Given the description of an element on the screen output the (x, y) to click on. 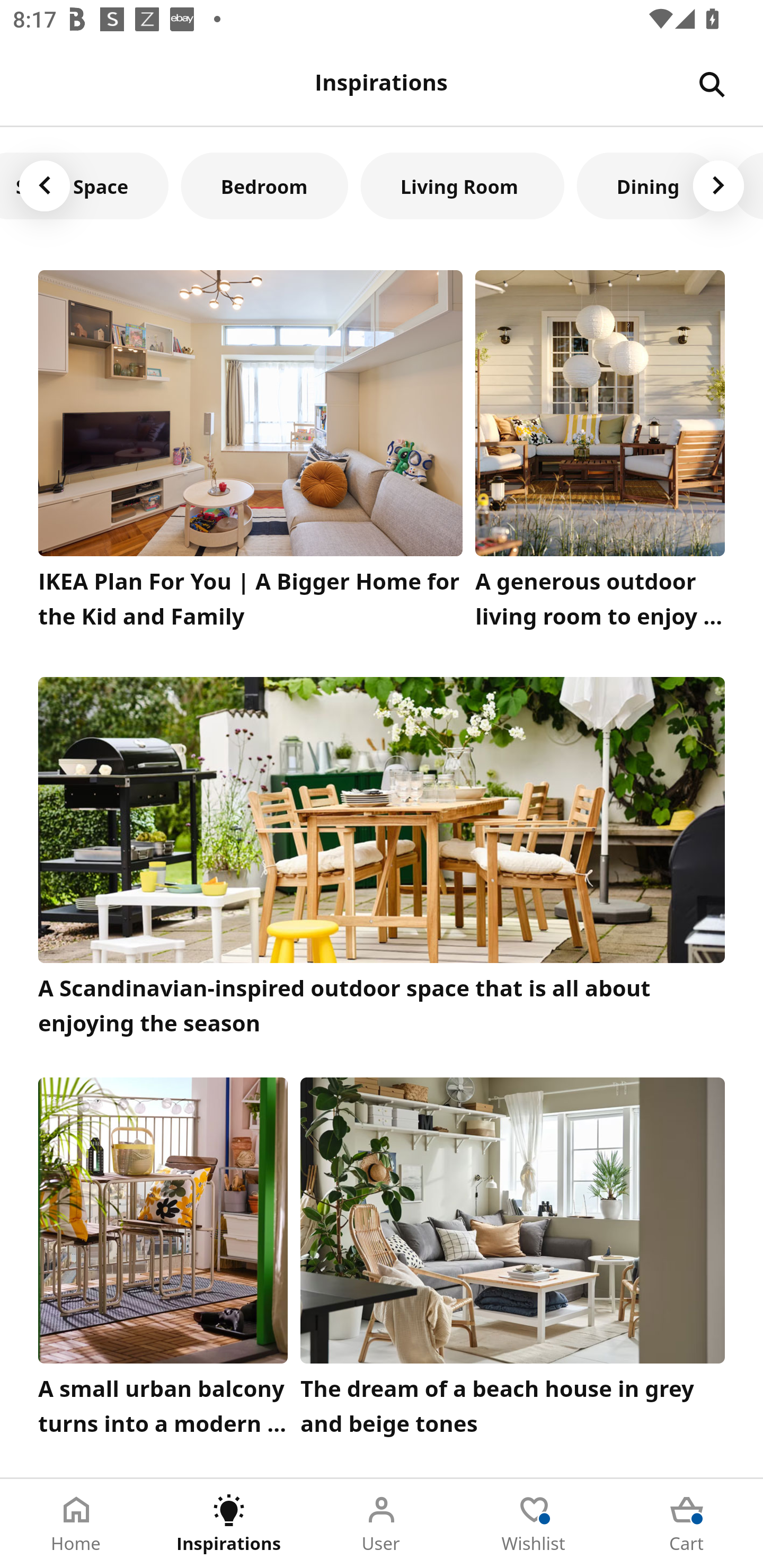
Bedroom (264, 185)
Living Room  (462, 185)
Dining (648, 185)
The dream of a beach house in grey and beige tones (512, 1261)
Home
Tab 1 of 5 (76, 1522)
Inspirations
Tab 2 of 5 (228, 1522)
User
Tab 3 of 5 (381, 1522)
Wishlist
Tab 4 of 5 (533, 1522)
Cart
Tab 5 of 5 (686, 1522)
